Given the description of an element on the screen output the (x, y) to click on. 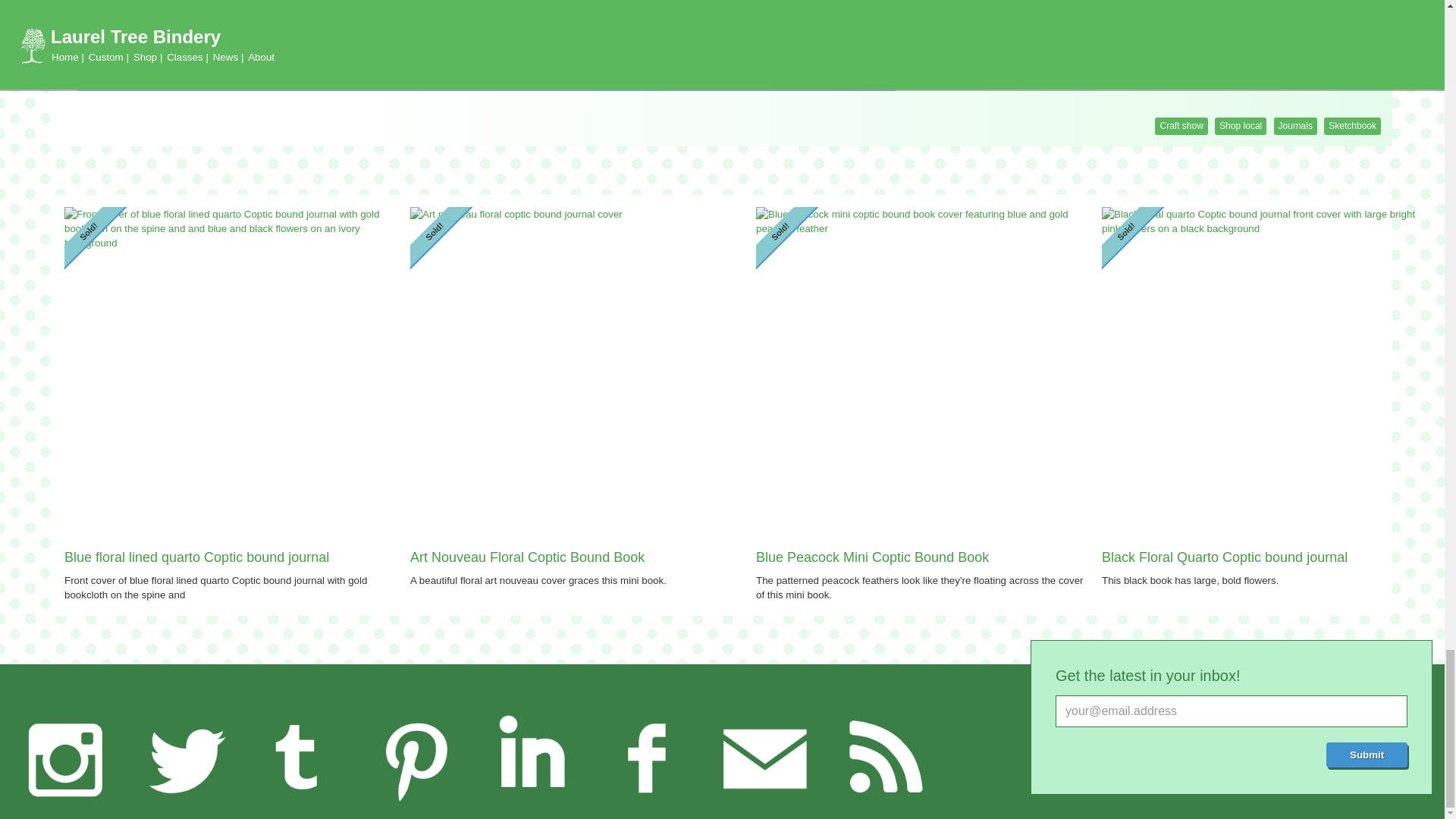
PINTEREST (415, 759)
Blue floral lined quarto Coptic bound journal (230, 557)
LINKEDIN (531, 759)
Art Nouveau Floral Coptic Bound Book (577, 557)
Submit (1366, 754)
INSTAGRAM (65, 759)
FEEDBACK (765, 759)
Blue Peacock Mini Coptic Bound Book (922, 557)
Shop local (1240, 126)
TUMBLR (298, 759)
Craft show (1180, 126)
Black Floral Quarto Coptic bound journal (1268, 557)
TWITTER (182, 759)
RSS FEED (880, 759)
Journals (1295, 126)
